Given the description of an element on the screen output the (x, y) to click on. 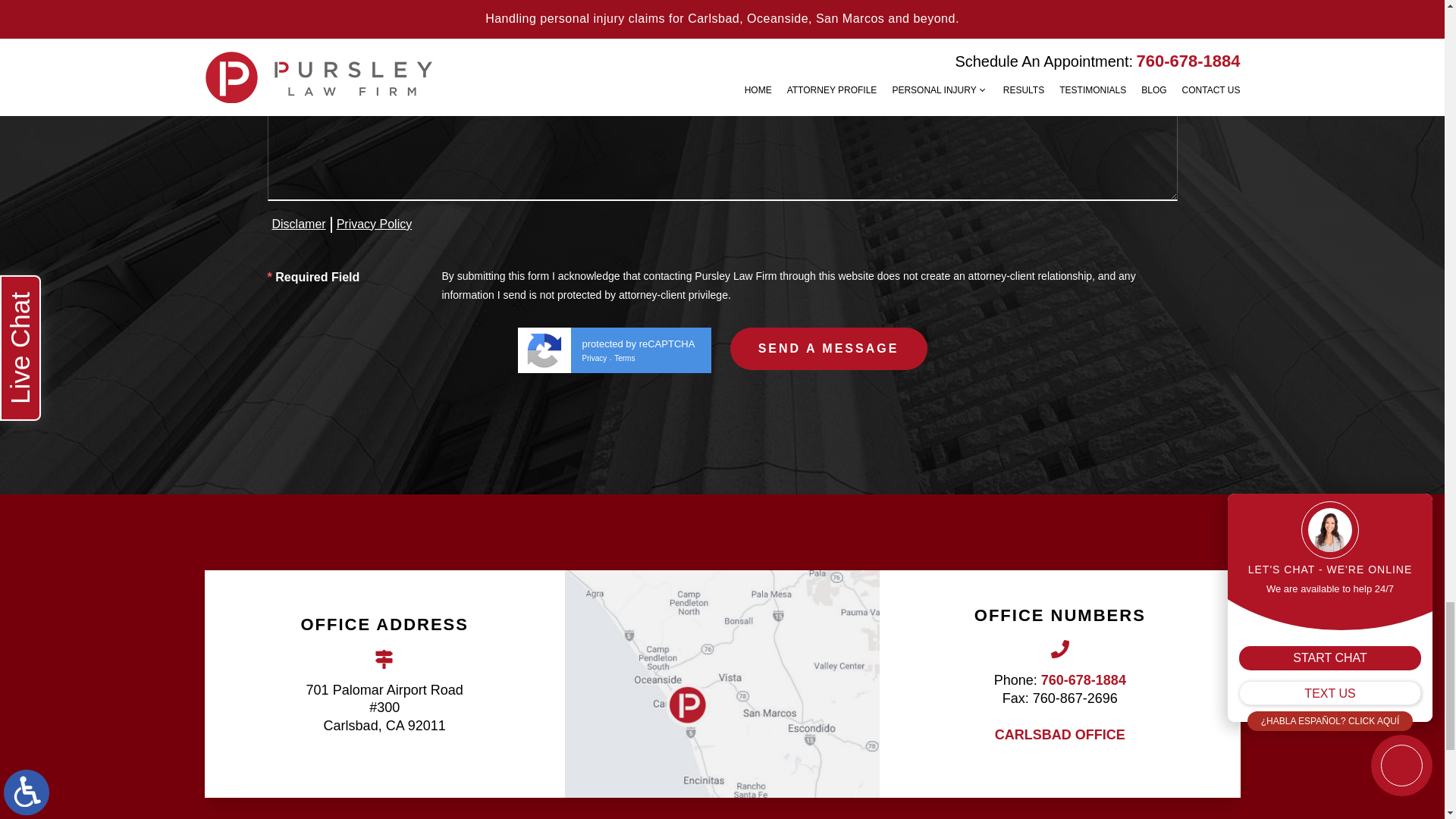
Send A Message (827, 348)
